Given the description of an element on the screen output the (x, y) to click on. 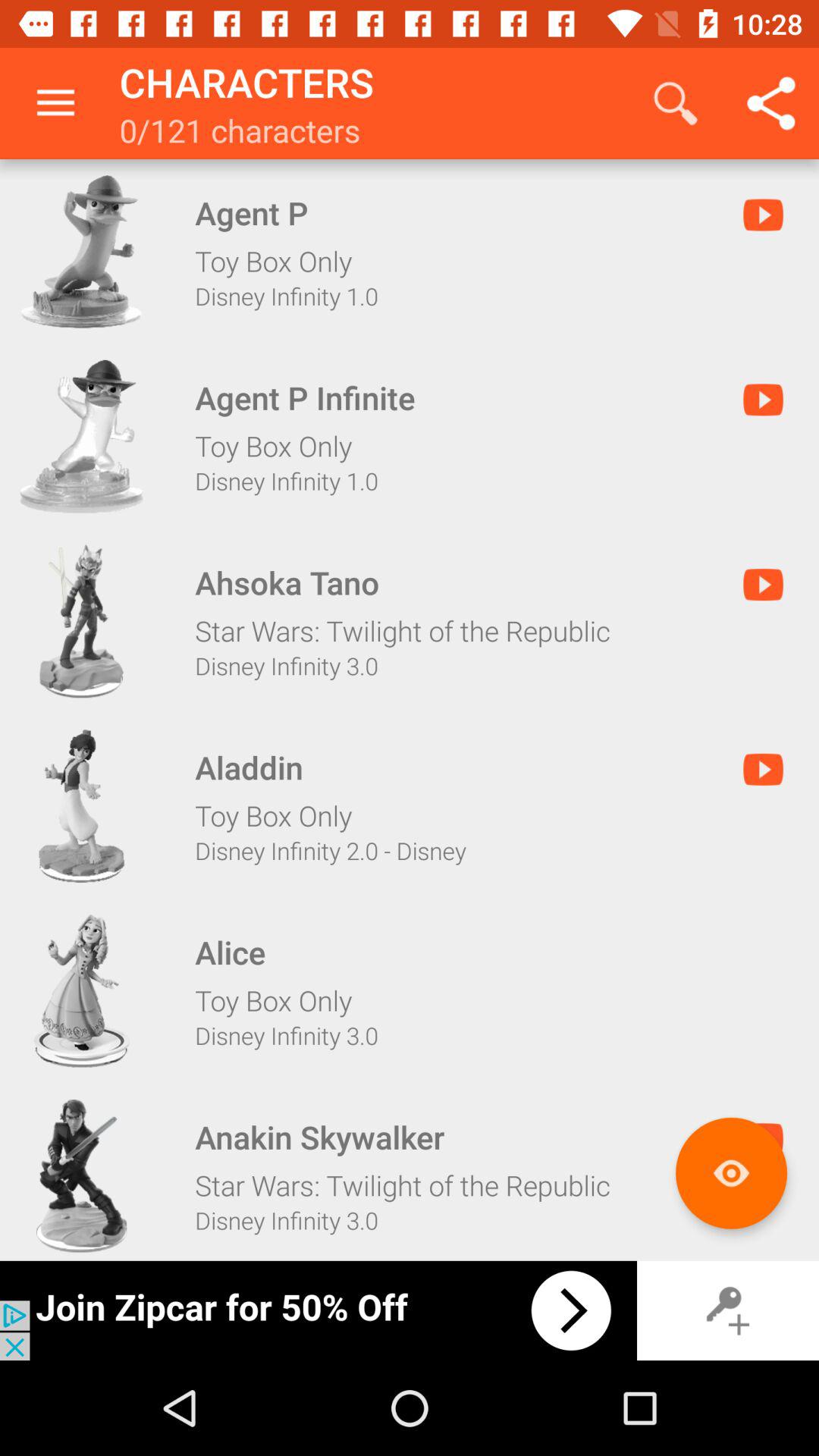
click advertisement (318, 1310)
